Given the description of an element on the screen output the (x, y) to click on. 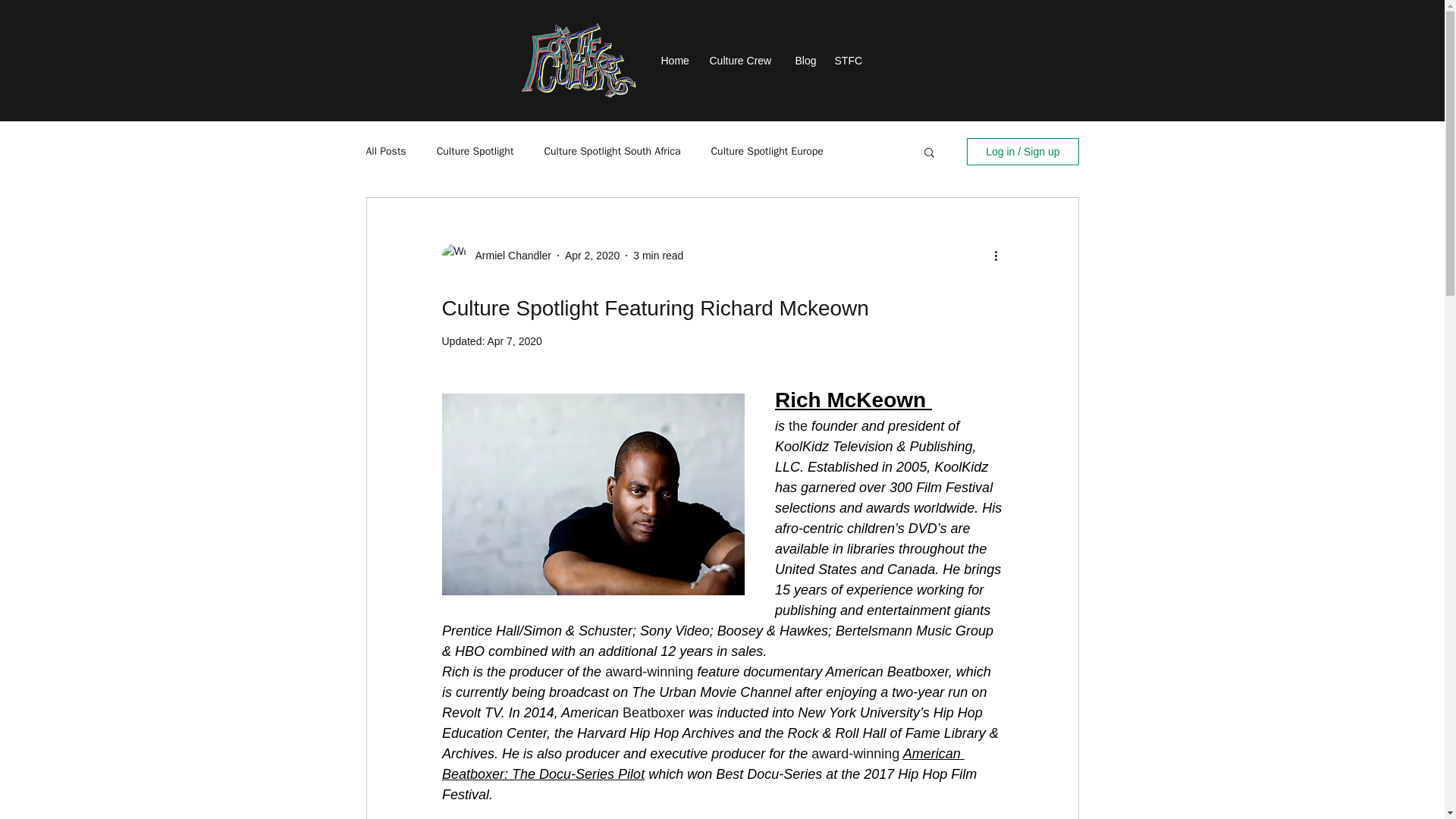
Home (677, 60)
Culture Crew (744, 60)
Apr 7, 2020 (513, 340)
Culture Spotlight Europe (766, 151)
Blog (807, 60)
Culture Spotlight (474, 151)
Rich McKeown (850, 399)
Culture Spotlight South Africa (611, 151)
Apr 2, 2020 (592, 254)
All Posts (385, 151)
3 min read (657, 254)
Armiel Chandler (507, 254)
American Beatboxer: The Docu-Series Pilot (702, 764)
